Given the description of an element on the screen output the (x, y) to click on. 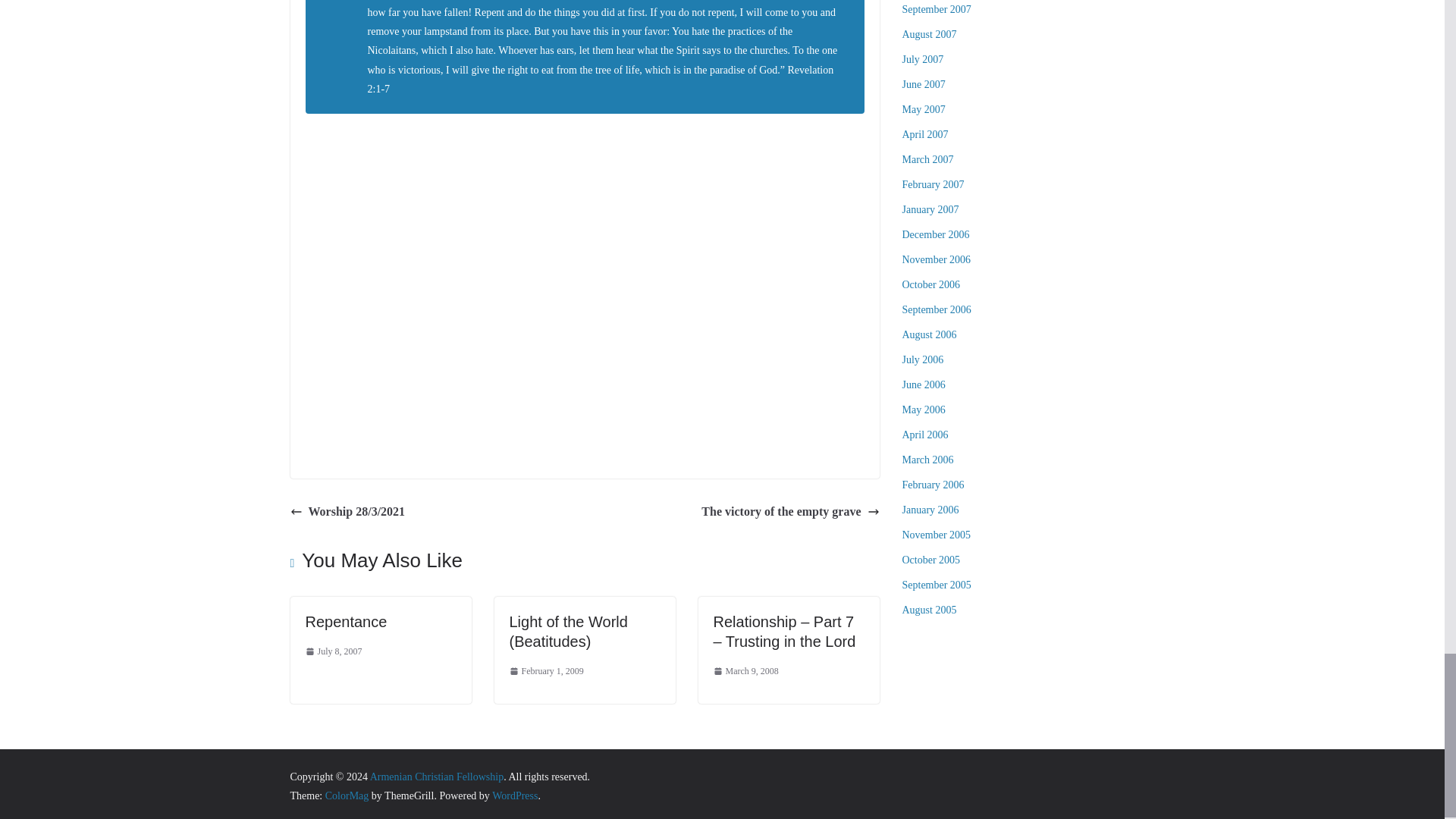
ColorMag (346, 795)
1:00 am (546, 671)
Repentance (345, 621)
February 1, 2009 (546, 671)
Armenian Christian Fellowship (436, 776)
The victory of the empty grave (790, 512)
July 8, 2007 (332, 651)
12:00 am (332, 651)
March 9, 2008 (745, 671)
WordPress (514, 795)
1:00 am (745, 671)
Repentance (345, 621)
